Given the description of an element on the screen output the (x, y) to click on. 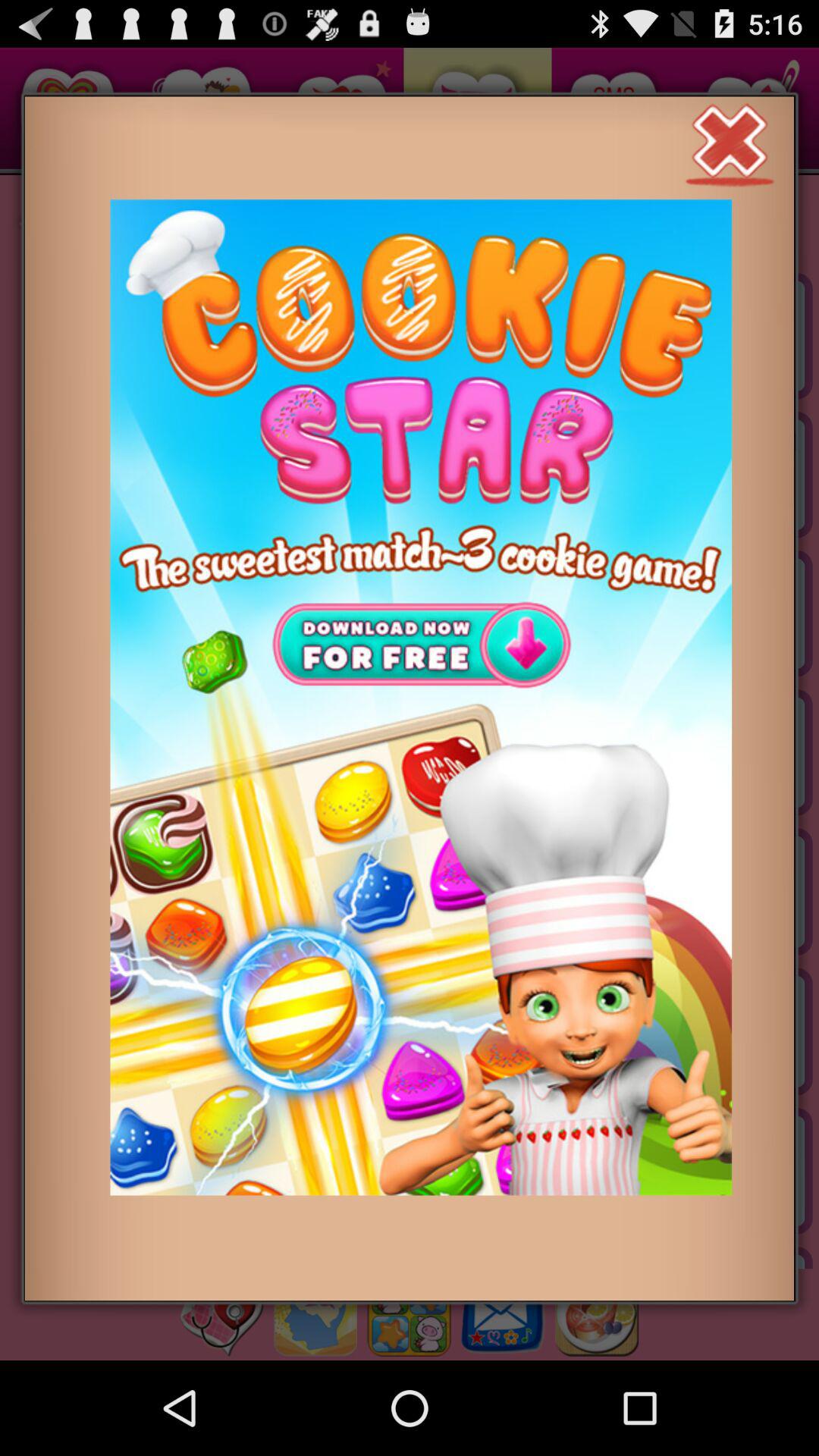
download content (420, 697)
